Given the description of an element on the screen output the (x, y) to click on. 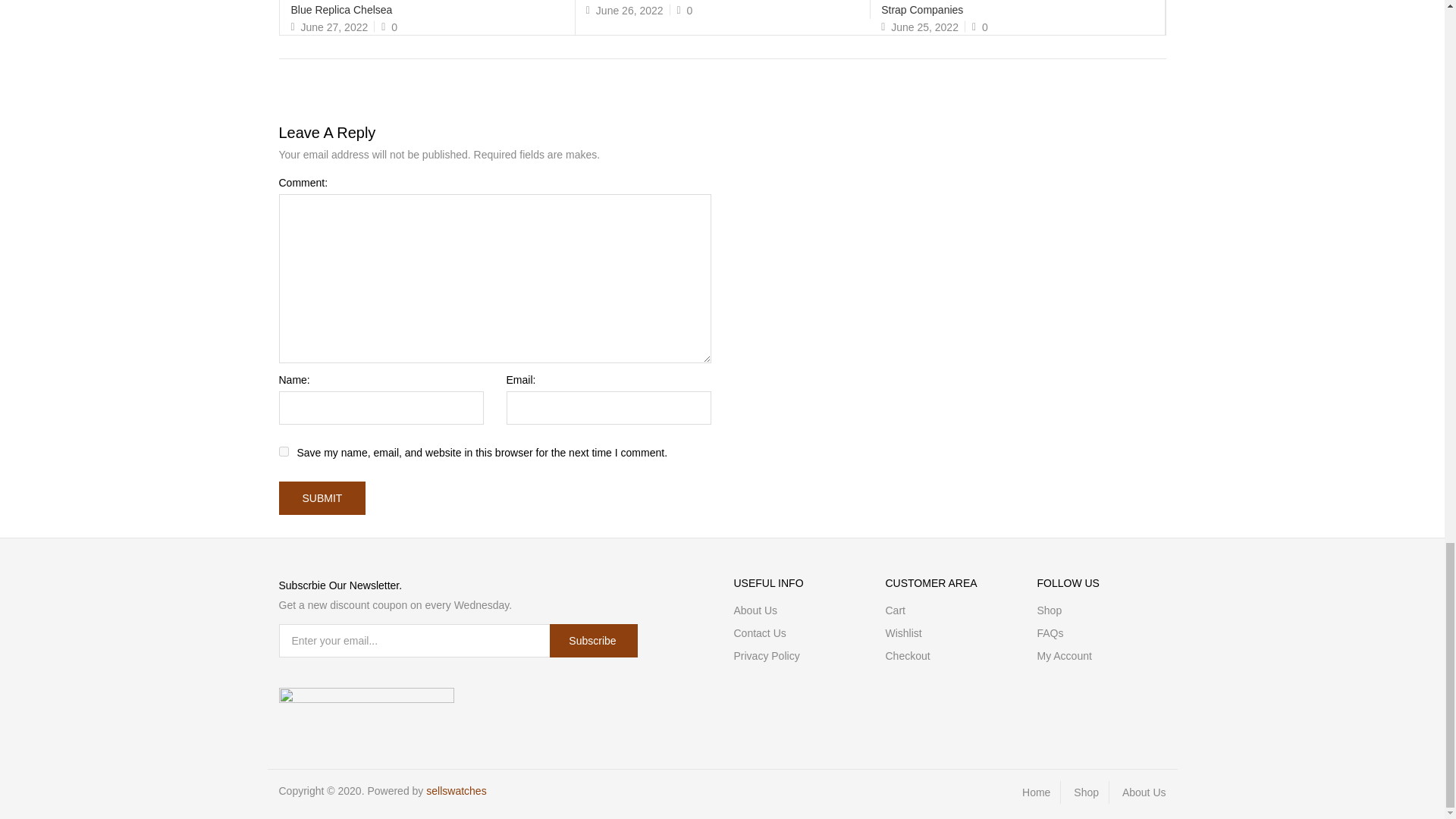
payments (366, 696)
submit (322, 498)
subscribe (593, 640)
yes (283, 451)
